Given the description of an element on the screen output the (x, y) to click on. 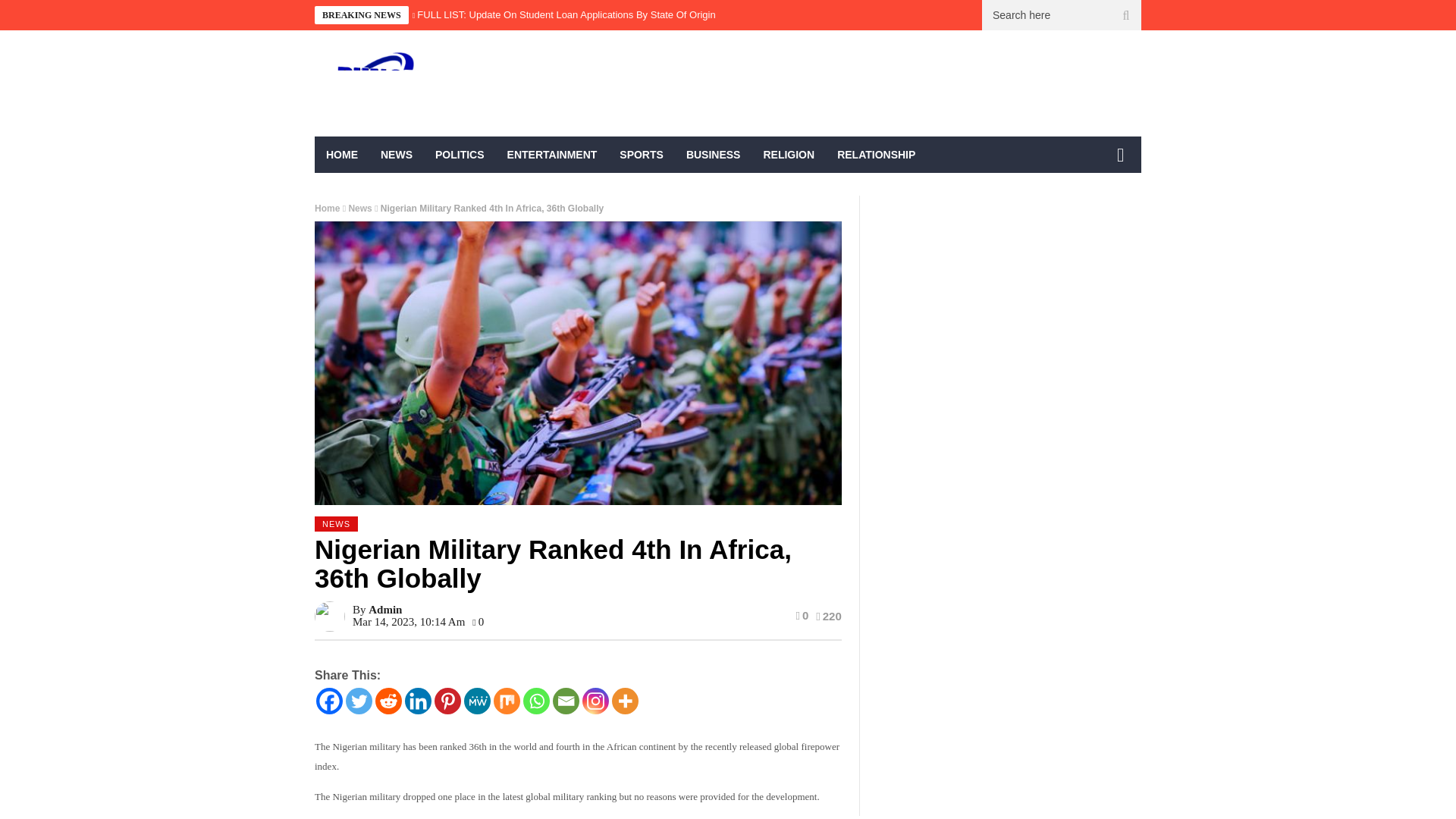
0 (801, 615)
Instagram (595, 700)
MeWe (477, 700)
Reddit (388, 700)
News (359, 208)
Home (326, 208)
Facebook (328, 700)
Whatsapp (536, 700)
More (625, 700)
